Given the description of an element on the screen output the (x, y) to click on. 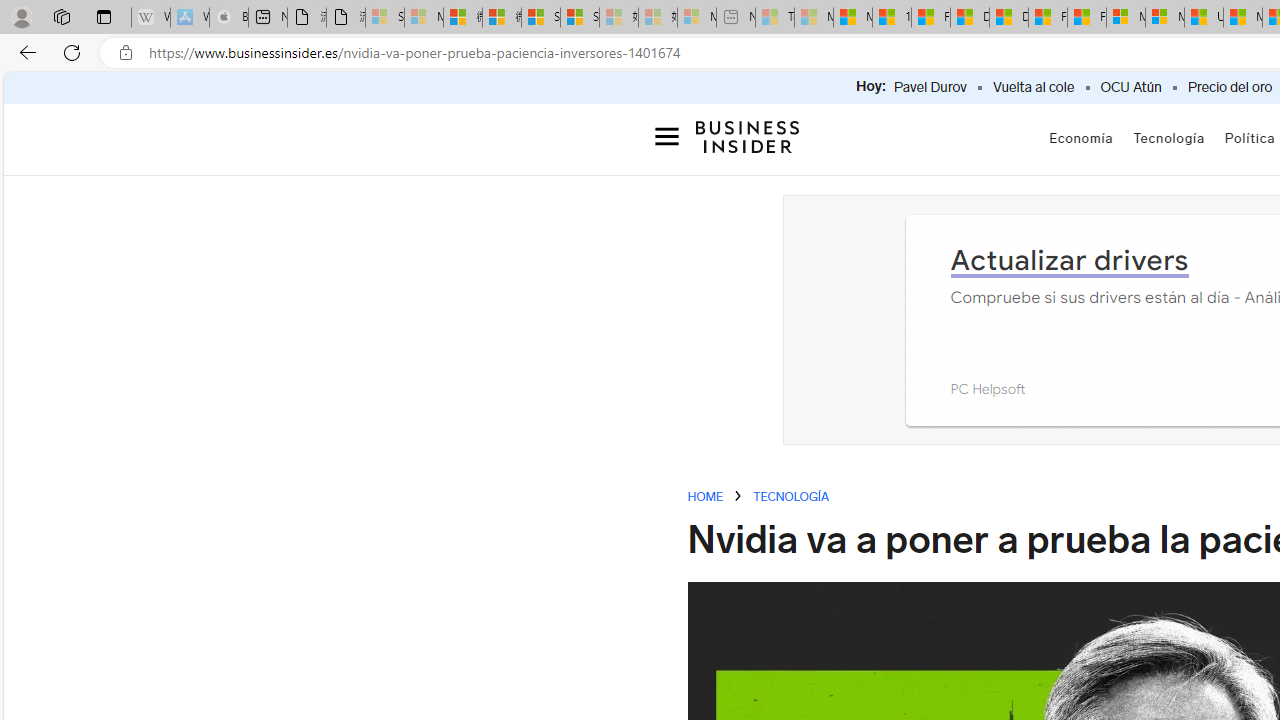
PC Helpsoft (987, 388)
Top Stories - MSN - Sleeping (774, 17)
Sign in to your Microsoft account - Sleeping (385, 17)
Wikipedia - Sleeping (150, 17)
Marine life - MSN - Sleeping (813, 17)
US Heat Deaths Soared To Record High Last Year (1203, 17)
Logo BusinessInsider.es (748, 139)
